Given the description of an element on the screen output the (x, y) to click on. 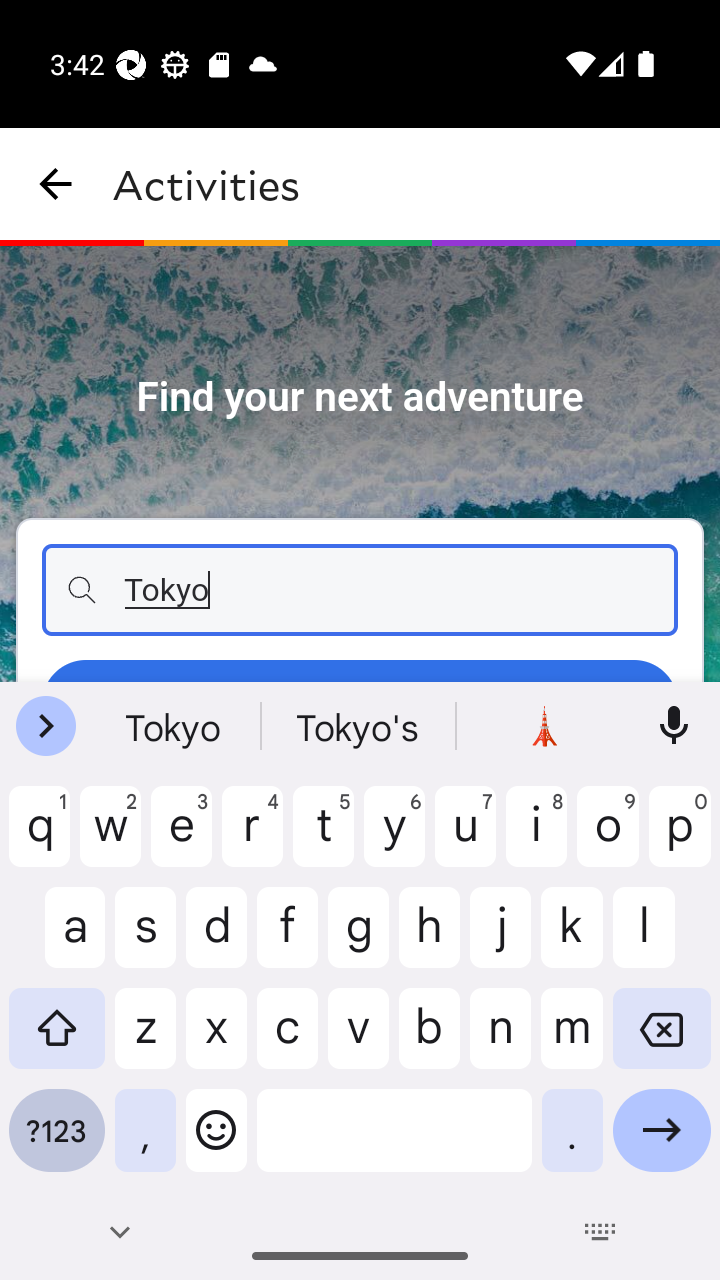
navigation_button (56, 184)
Find your next adventure   Tokyo Search (360, 463)
Tokyo (359, 590)
